Given the description of an element on the screen output the (x, y) to click on. 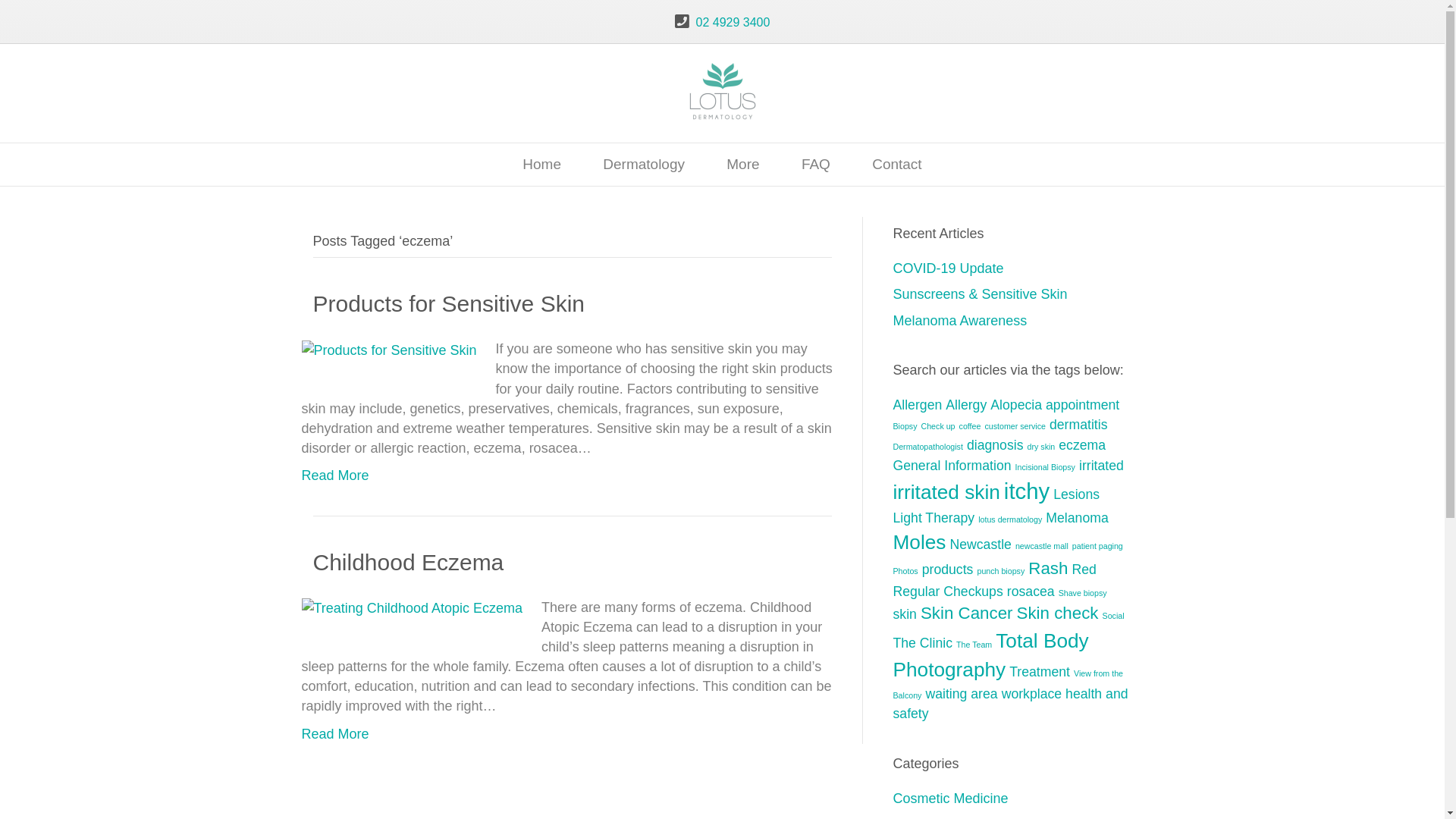
appointment Element type: text (1082, 404)
Shave biopsy Element type: text (1082, 592)
Products for Sensitive Skin Element type: hover (388, 348)
General Information Element type: text (952, 465)
lotus dermatology Element type: text (1009, 519)
Childhood Eczema Element type: hover (411, 607)
newcastle mall Element type: text (1041, 545)
Newcastle Element type: text (979, 544)
skin Element type: text (904, 613)
Biopsy Element type: text (905, 425)
Melanoma Awareness Element type: text (960, 320)
workplace health and safety Element type: text (1010, 703)
Regular Checkups Element type: text (948, 591)
Dermatology Element type: text (643, 164)
products Element type: text (947, 569)
The Clinic Element type: text (923, 642)
Rash Element type: text (1047, 567)
Alopecia Element type: text (1015, 404)
dermatitis Element type: text (1078, 424)
Total Body Photography Element type: text (990, 654)
coffee Element type: text (970, 425)
View from the Balcony Element type: text (1008, 683)
More Element type: text (742, 164)
customer service Element type: text (1014, 425)
rosacea Element type: text (1030, 591)
Contact Element type: text (896, 164)
Read More Element type: text (335, 475)
Cosmetic Medicine Element type: text (950, 798)
02 4929 3400 Element type: text (733, 21)
irritated skin Element type: text (946, 491)
Red Element type: text (1083, 569)
Childhood Eczema Element type: text (407, 561)
Photos Element type: text (905, 570)
Treatment Element type: text (1039, 671)
Moles Element type: text (919, 541)
The Team Element type: text (973, 644)
waiting area Element type: text (961, 693)
FAQ Element type: text (815, 164)
Melanoma Element type: text (1076, 517)
patient paging Element type: text (1097, 545)
diagnosis Element type: text (994, 444)
Skin Cancer Element type: text (966, 612)
Incisional Biopsy Element type: text (1045, 466)
Check up Element type: text (937, 425)
Home Element type: text (541, 164)
Dermatopathologist Element type: text (928, 446)
Read More Element type: text (335, 733)
itchy Element type: text (1026, 490)
Light Therapy Element type: text (934, 517)
Skin check Element type: text (1057, 612)
punch biopsy Element type: text (1000, 570)
Social Element type: text (1113, 615)
Products for Sensitive Skin Element type: text (448, 303)
dry skin Element type: text (1041, 446)
Allergy Element type: text (965, 404)
eczema Element type: text (1081, 444)
Lesions Element type: text (1076, 494)
COVID-19 Update Element type: text (948, 268)
Allergen Element type: text (917, 404)
Sunscreens & Sensitive Skin Element type: text (980, 293)
irritated Element type: text (1101, 465)
